Given the description of an element on the screen output the (x, y) to click on. 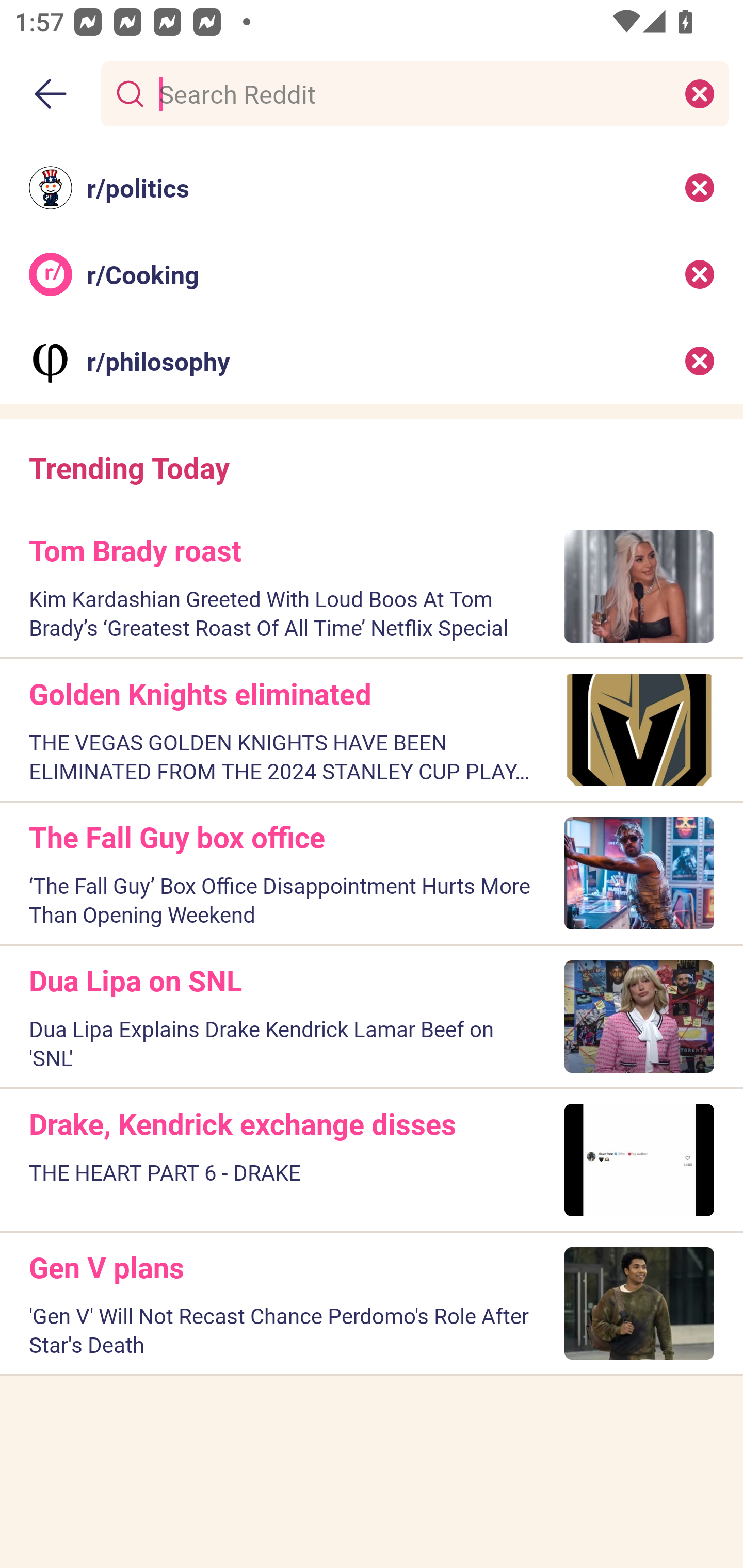
Back (50, 93)
Search Reddit (410, 93)
Clear search (699, 93)
r/politics Recent search: r/politics Remove (371, 187)
Remove (699, 187)
r/Cooking Recent search: r/Cooking Remove (371, 274)
Remove (699, 274)
r/philosophy Recent search: r/philosophy Remove (371, 361)
Remove (699, 361)
